Given the description of an element on the screen output the (x, y) to click on. 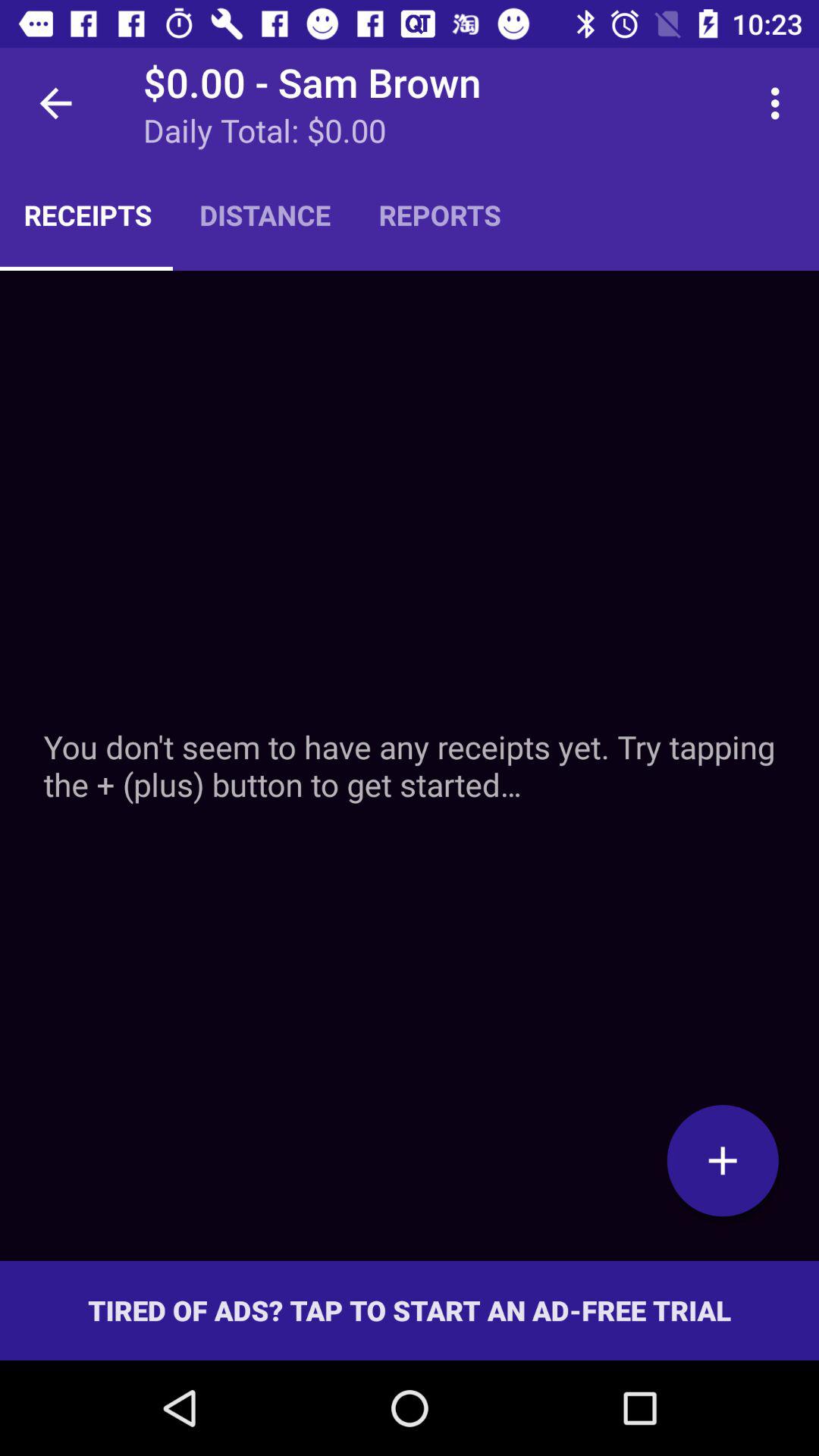
tap icon to the right of reports (779, 103)
